Given the description of an element on the screen output the (x, y) to click on. 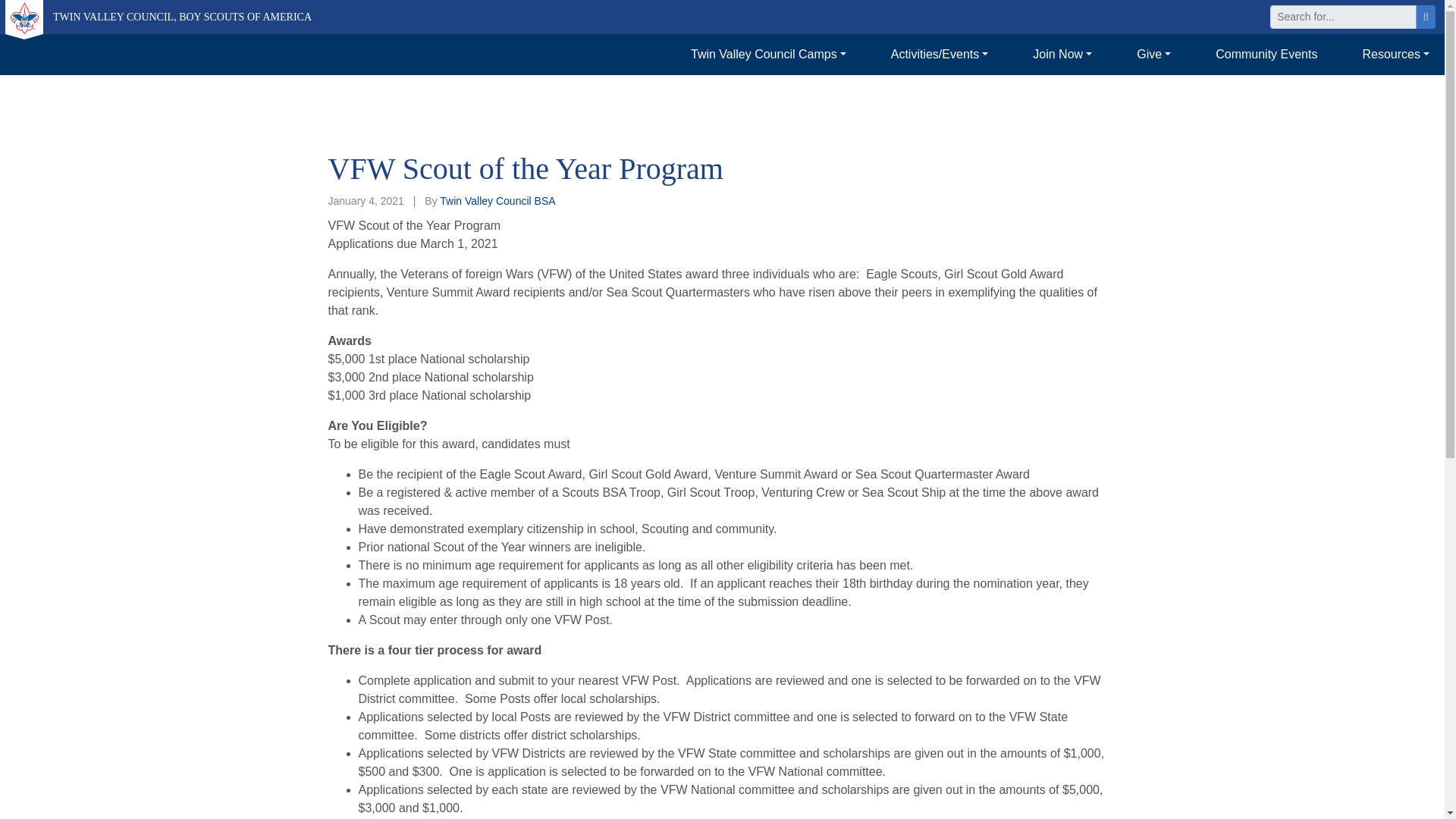
Twin Valley Council Camps (767, 54)
Twin Valley Council BSA (496, 200)
Community Events (1266, 54)
TWIN VALLEY COUNCIL, BOY SCOUTS OF AMERICA (158, 16)
Resources (1395, 54)
Join Now (1061, 54)
Give (1153, 54)
